Given the description of an element on the screen output the (x, y) to click on. 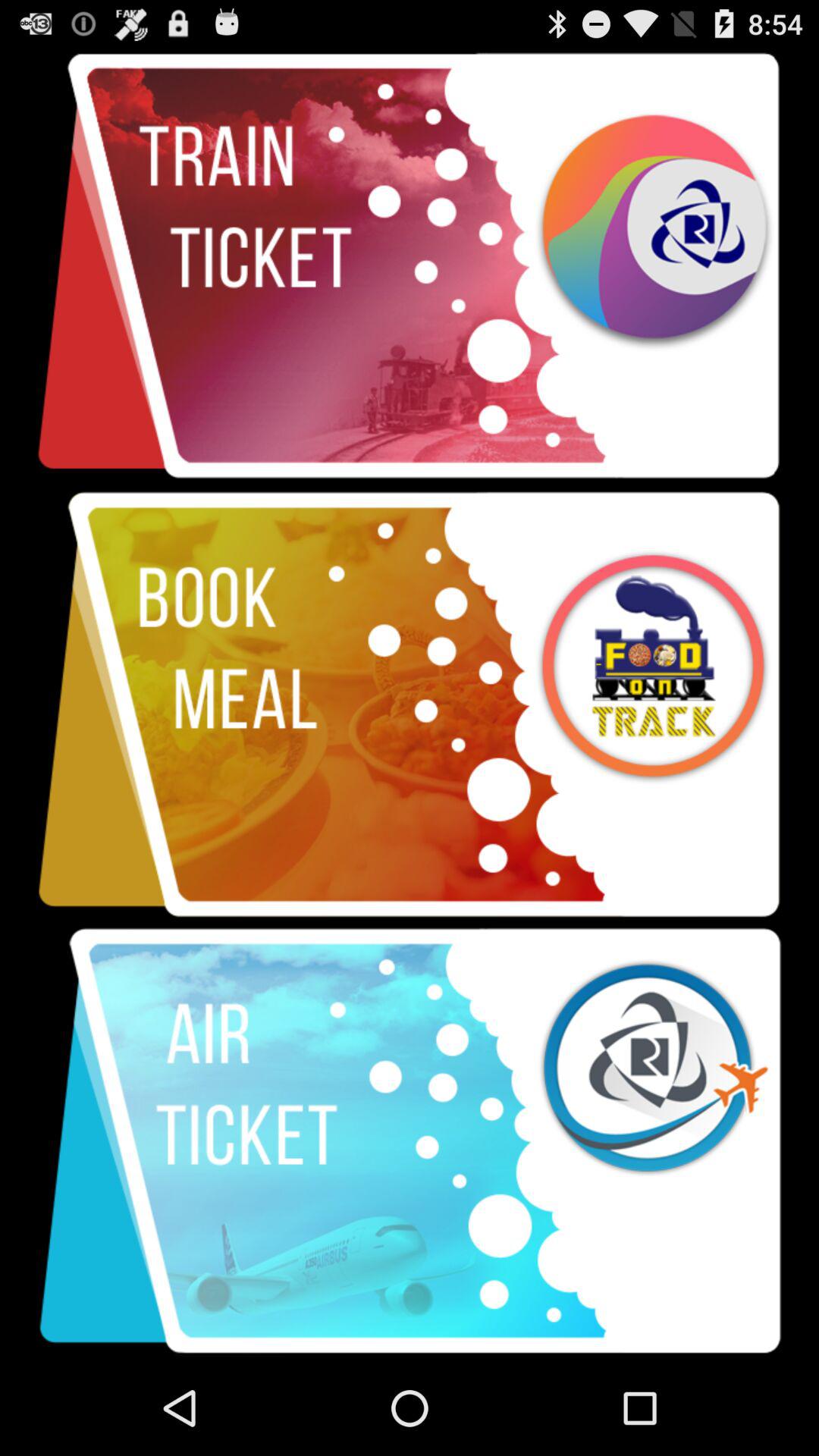
click the item at the bottom (409, 1141)
